Given the description of an element on the screen output the (x, y) to click on. 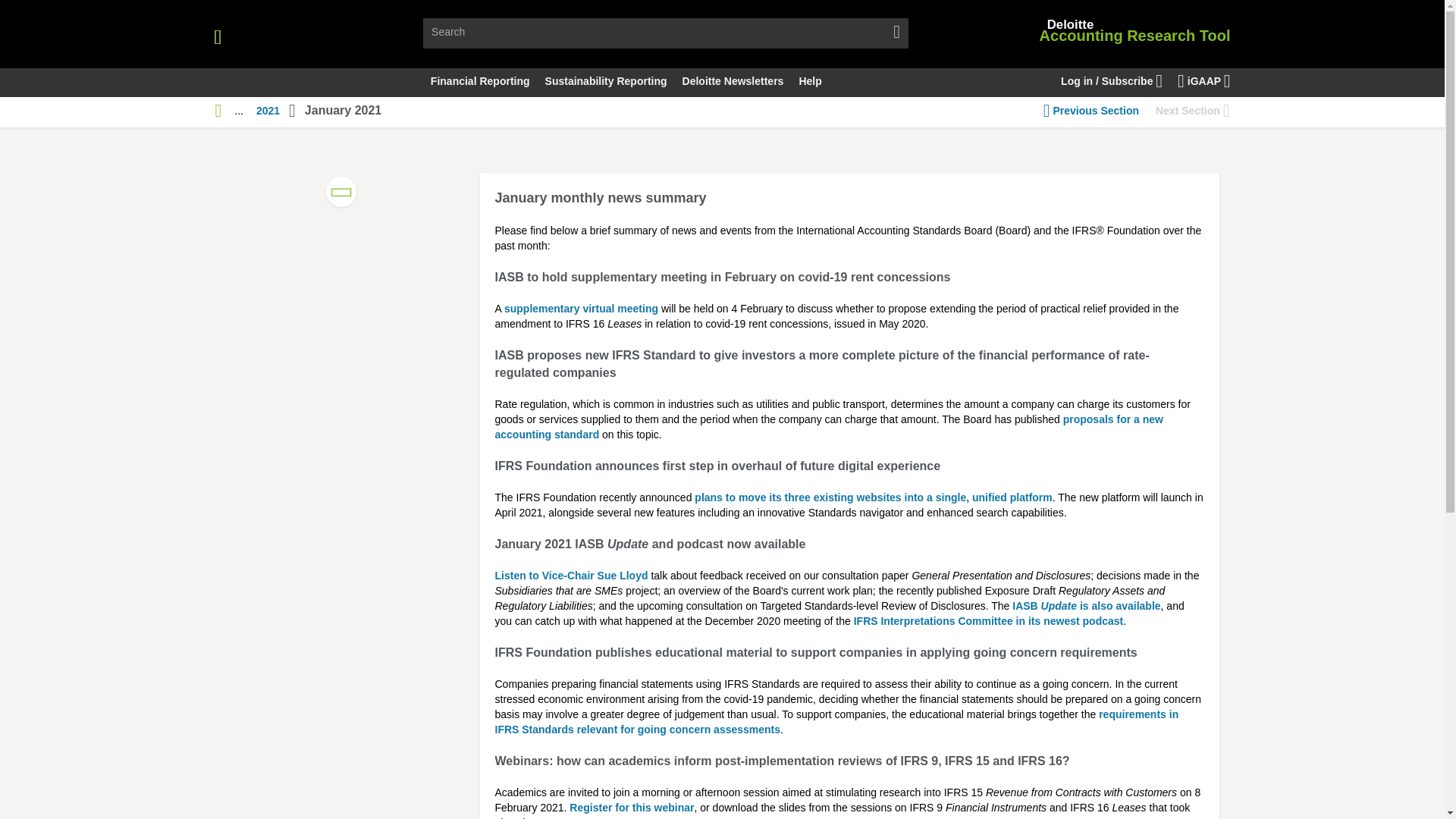
Deloitte Newsletters (733, 82)
Financial Reporting (480, 82)
iGAAP (1203, 82)
Sustainability Reporting (606, 82)
Help (809, 82)
